Given the description of an element on the screen output the (x, y) to click on. 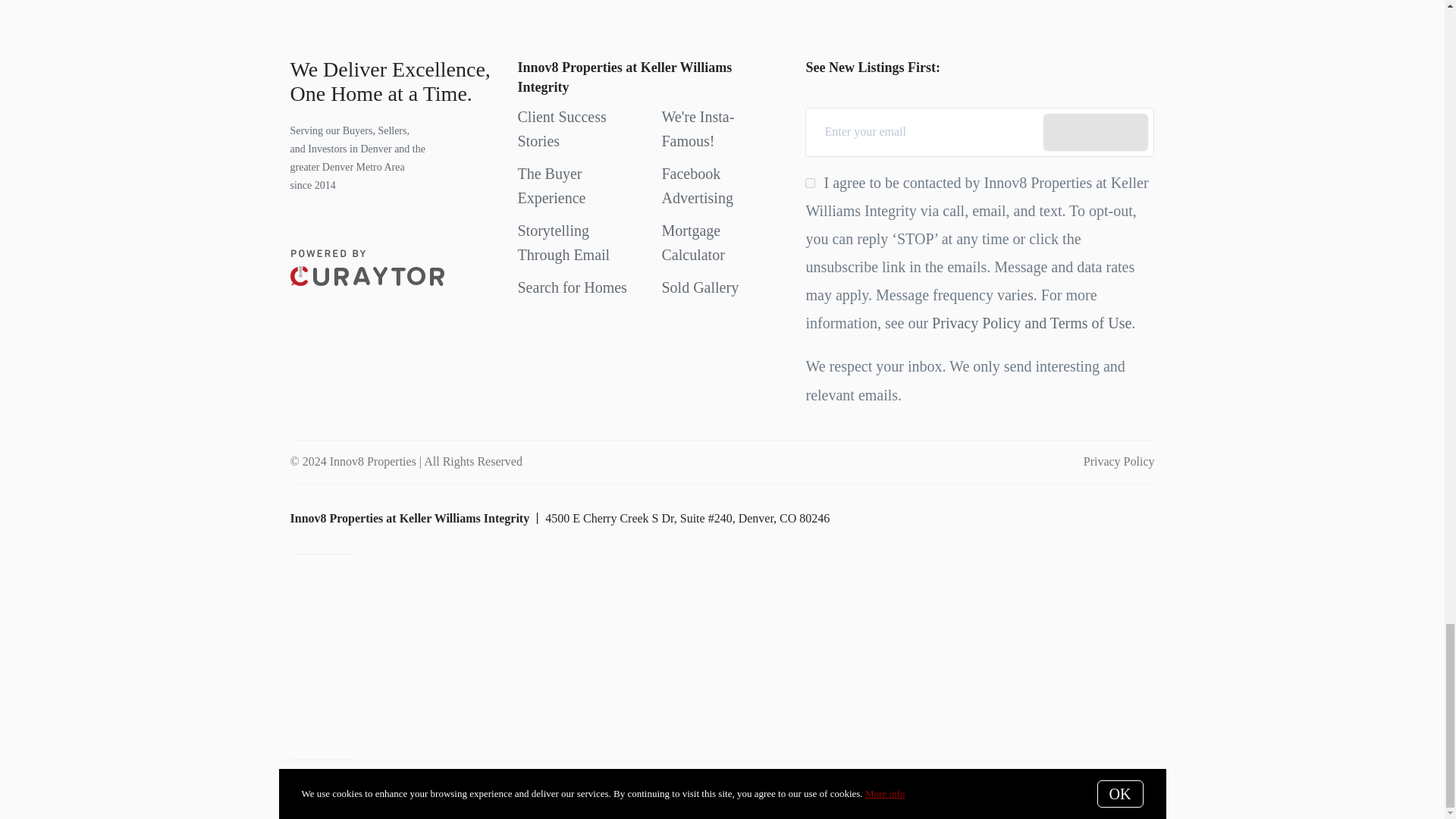
curaytor-horizontal (366, 267)
on (810, 183)
